Given the description of an element on the screen output the (x, y) to click on. 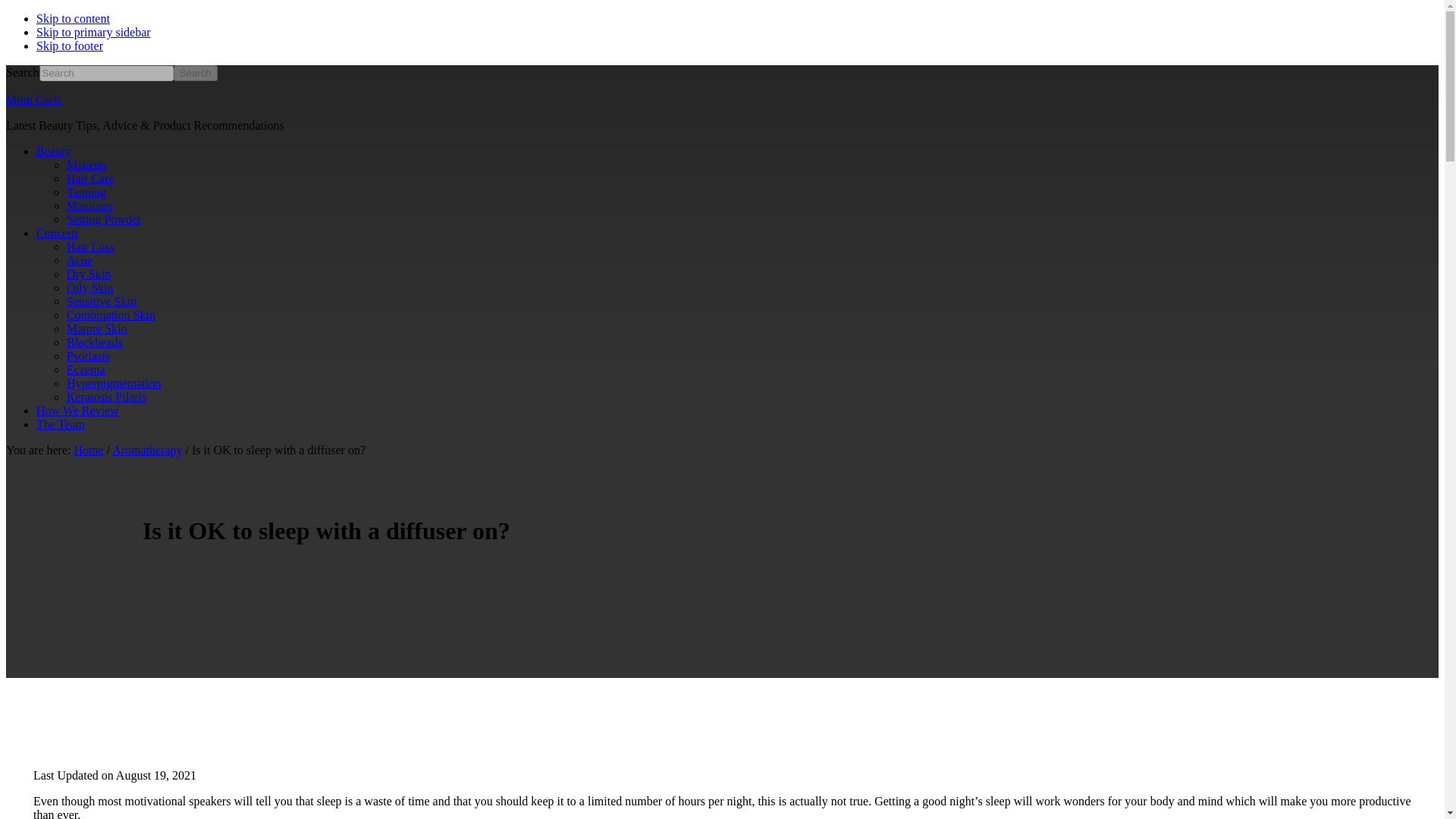
Hair Care (90, 178)
Combination Skin (110, 314)
Oily Skin (89, 287)
Search (194, 73)
Blackheads (94, 341)
Tanning (86, 192)
Makeup (86, 164)
Search (194, 73)
Dry Skin (88, 273)
Keratosis Pilaris (106, 396)
Mom Curls (33, 99)
Home (88, 449)
How We Review (77, 410)
Sensitive Skin (101, 300)
Acne (79, 259)
